Given the description of an element on the screen output the (x, y) to click on. 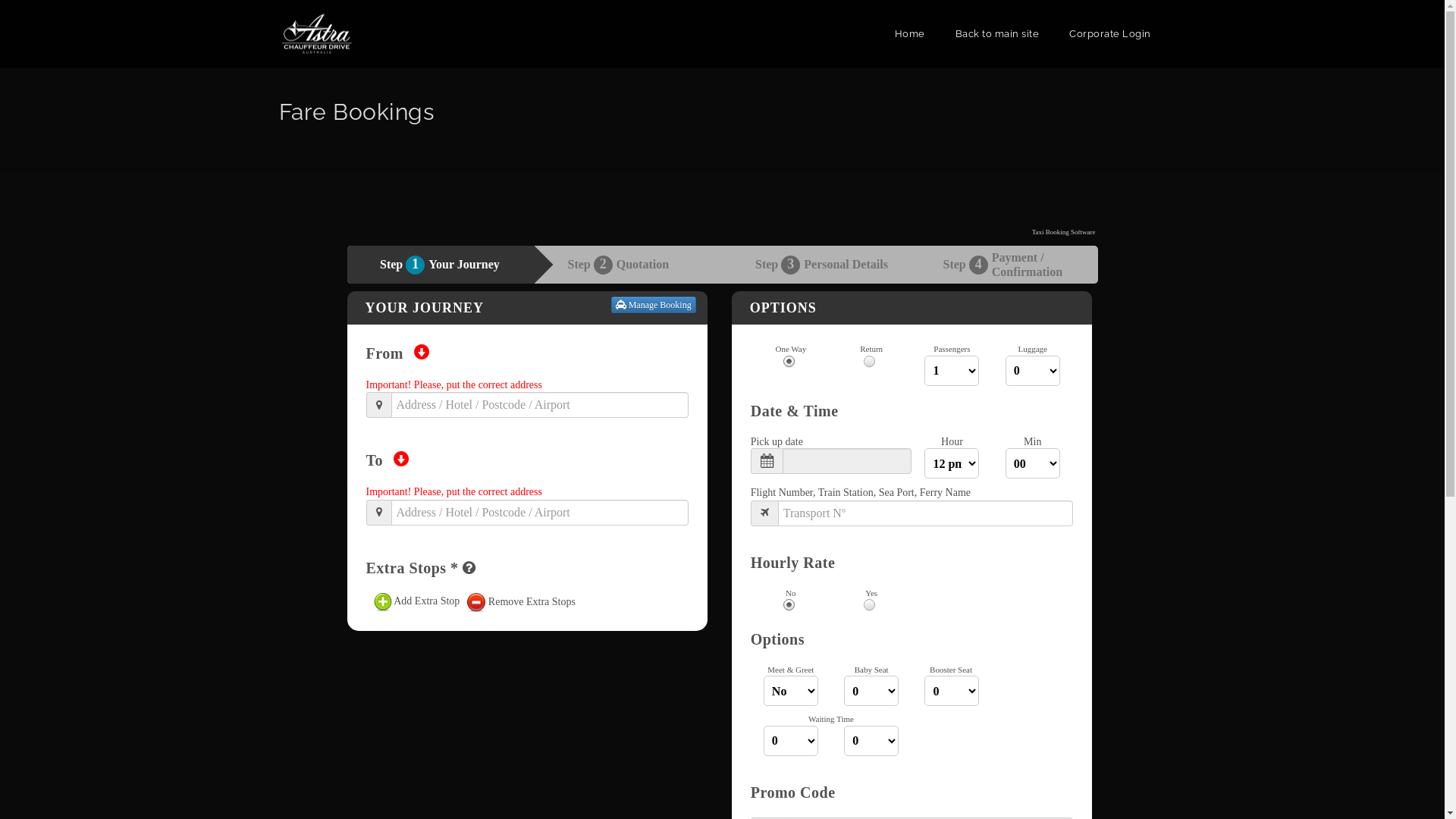
Back to main site Element type: text (997, 34)
Corporate Login Element type: text (1110, 34)
Astra Limousines Bookings Element type: hover (316, 33)
Astra Limousines Bookings Element type: hover (316, 34)
Home Element type: text (909, 34)
